Given the description of an element on the screen output the (x, y) to click on. 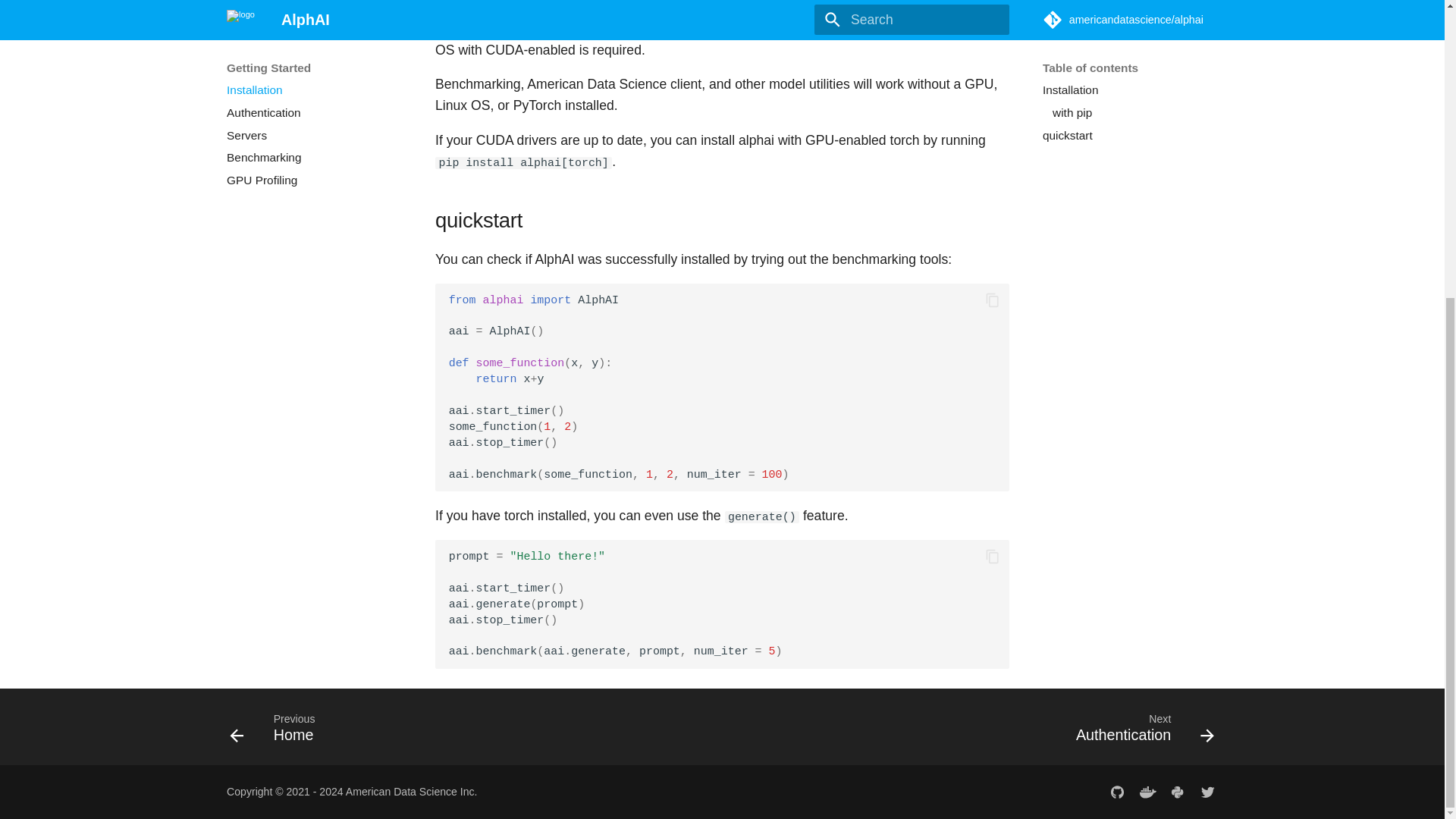
Copy to clipboard (992, 300)
github.com (1117, 791)
pypi.org (1177, 791)
twitter.com (1207, 791)
Copy to clipboard (992, 556)
hub.docker.com (1147, 791)
